Given the description of an element on the screen output the (x, y) to click on. 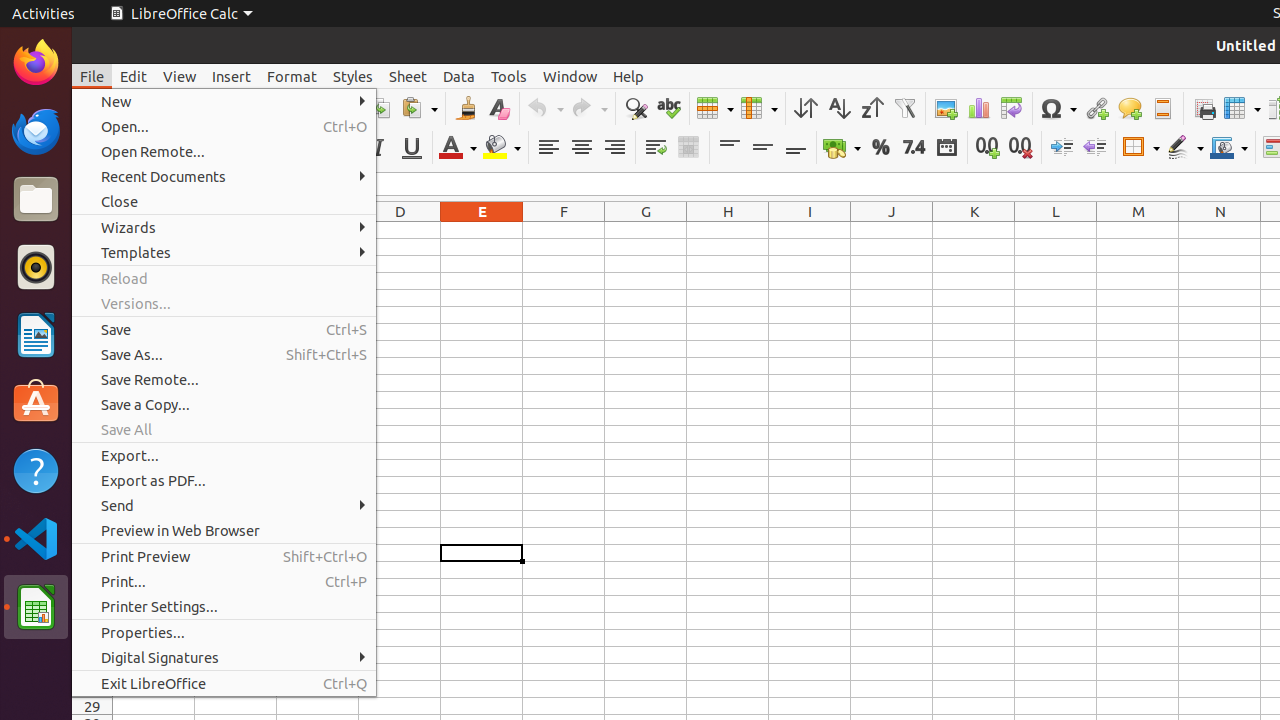
Currency Element type: push-button (842, 147)
Find & Replace Element type: toggle-button (635, 108)
Reload Element type: menu-item (224, 278)
Wizards Element type: menu (224, 227)
Freeze Rows and Columns Element type: push-button (1242, 108)
